Given the description of an element on the screen output the (x, y) to click on. 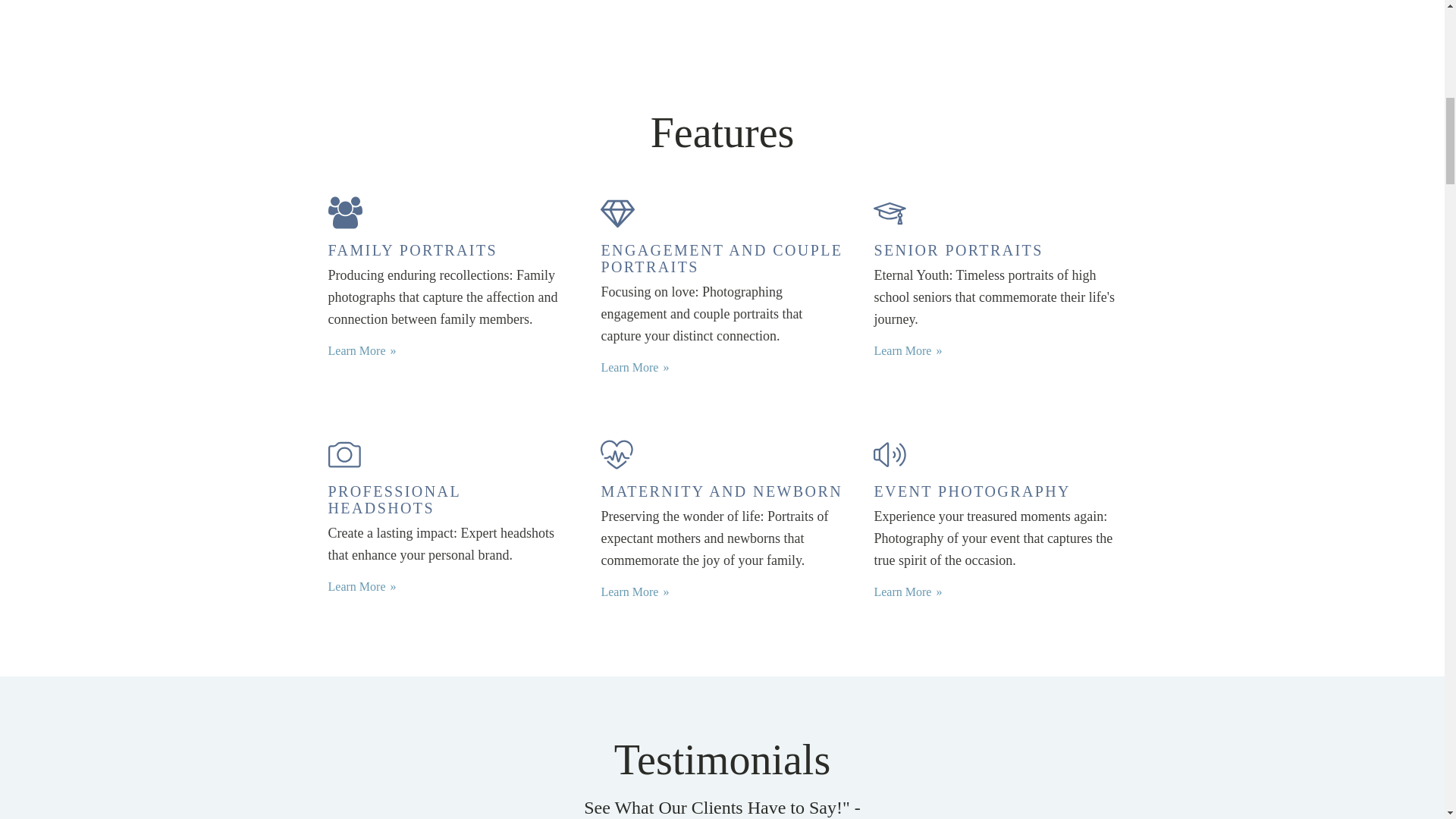
Learn More (633, 367)
Learn More (907, 591)
Learn More (362, 351)
Learn More (907, 351)
Learn More (633, 591)
Learn More (362, 586)
